Given the description of an element on the screen output the (x, y) to click on. 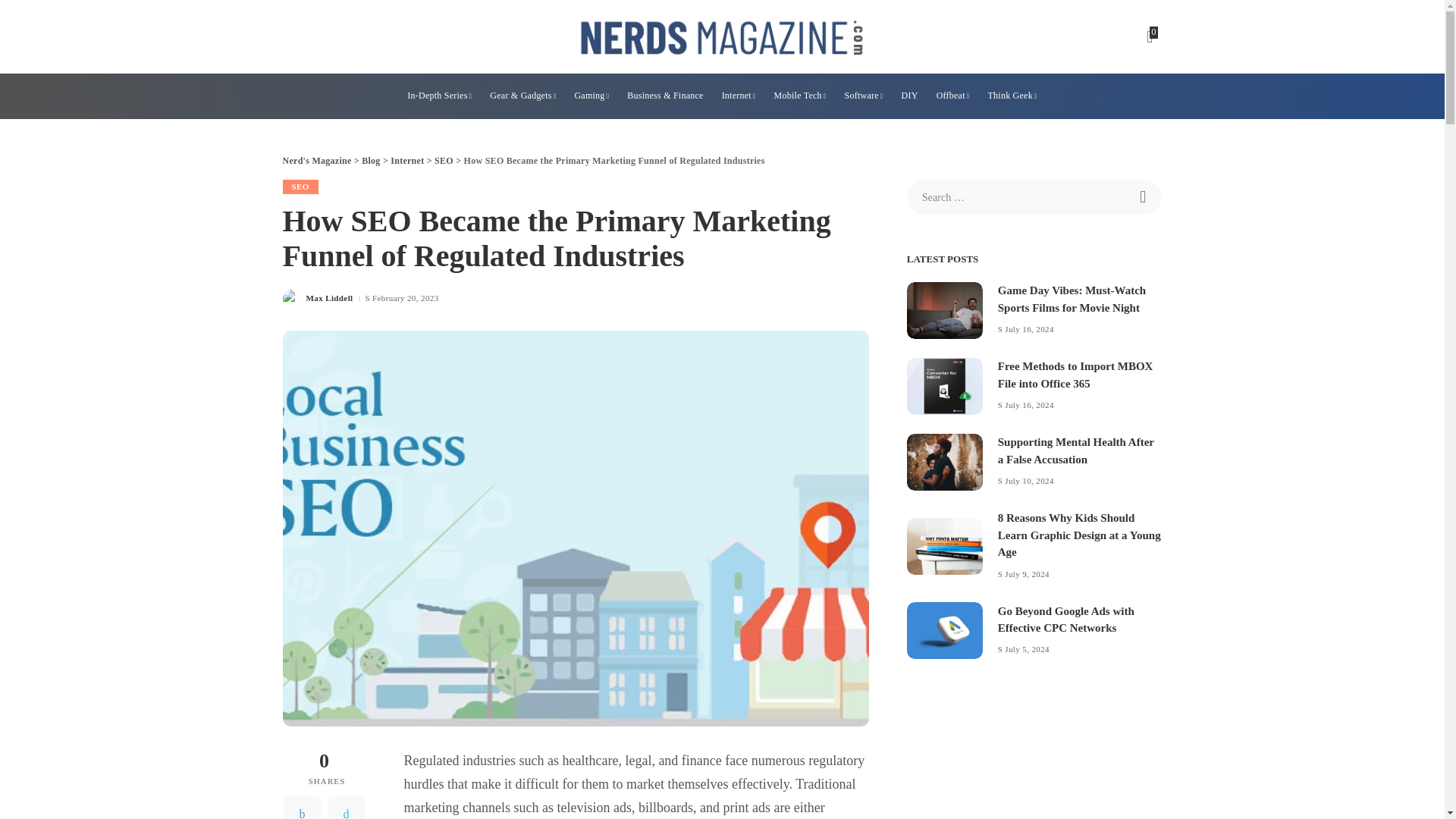
Go to the Internet Category archives. (406, 160)
Twitter (345, 807)
Facebook (301, 807)
Gaming (590, 95)
Go to Blog. (370, 160)
Go to Nerd's Magazine. (316, 160)
In-Depth Series (438, 95)
Nerd's Magazine (722, 36)
Search (1143, 196)
2023-02-20T12:12:18-06:00 (405, 298)
Search (1143, 196)
Go to the SEO Category archives. (442, 160)
